Given the description of an element on the screen output the (x, y) to click on. 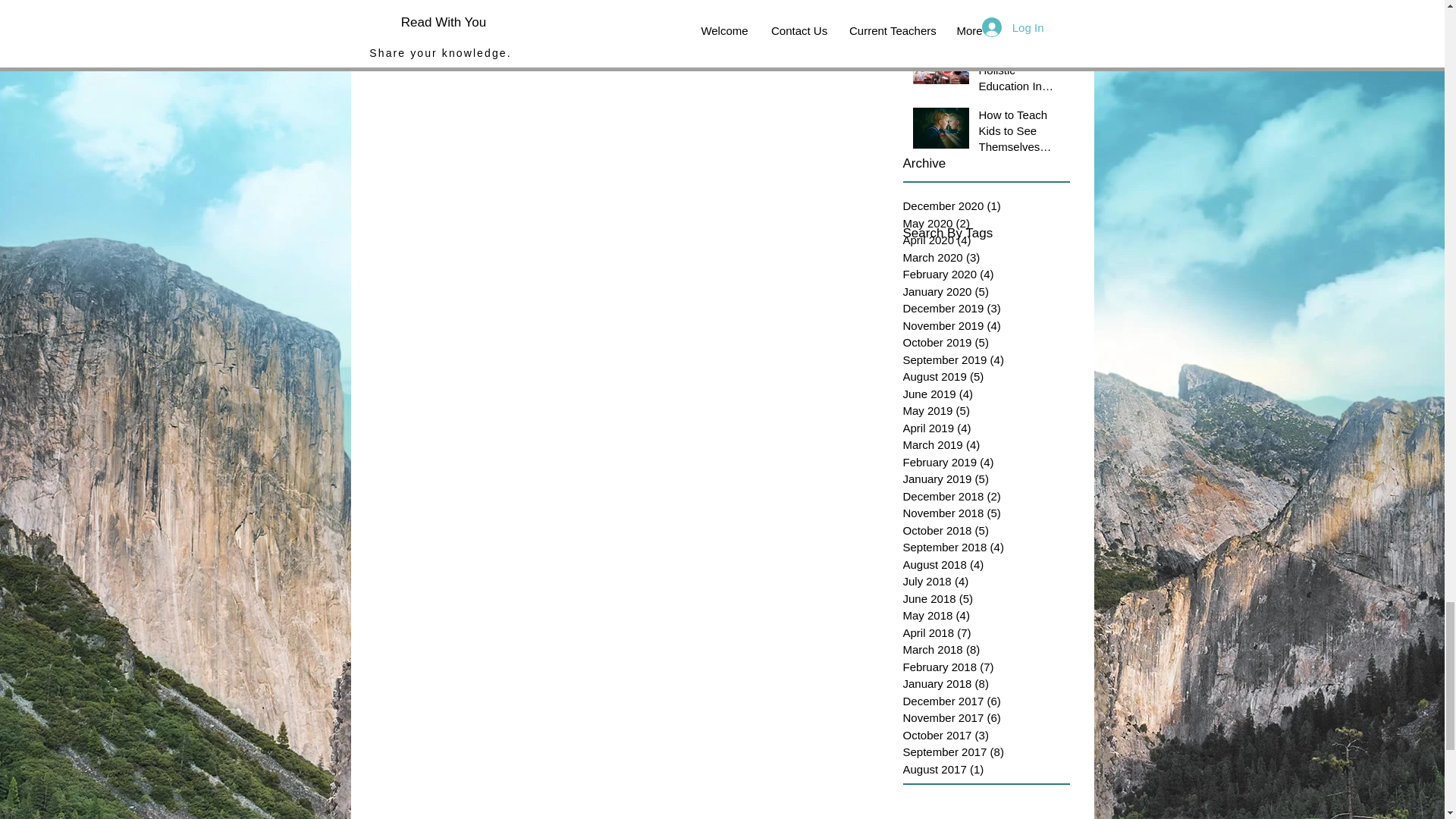
Secrets from the Past that will Enhance Education (1018, 19)
How to Teach Kids to See Themselves with Compassion (1018, 133)
How To Use Holistic Education In The Classroom (1018, 72)
